Given the description of an element on the screen output the (x, y) to click on. 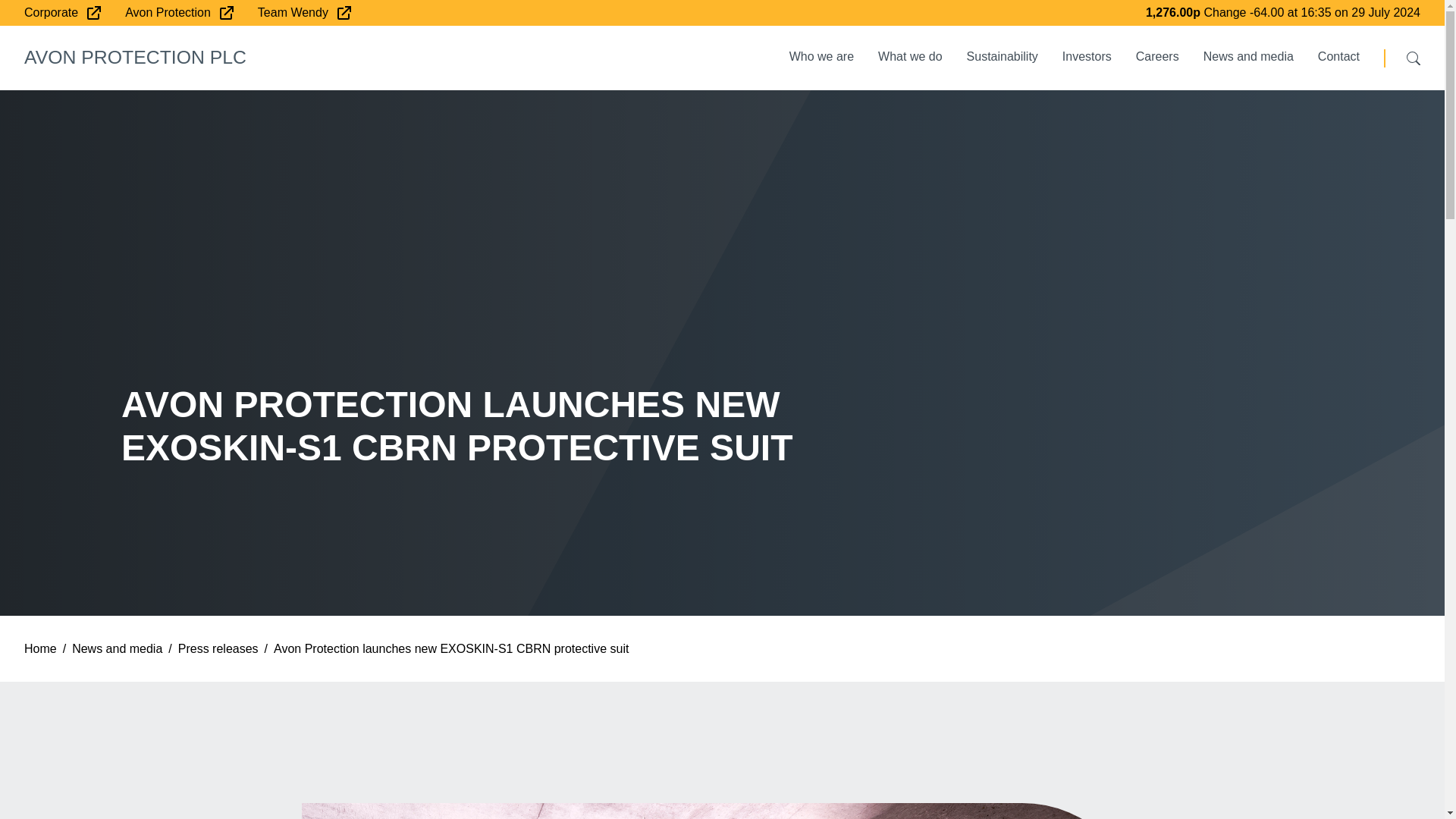
Who we are (821, 57)
AVON PROTECTION PLC (135, 56)
Investors (1086, 57)
What we do (909, 57)
Avon Protection (178, 12)
Sustainability (1002, 57)
Team Wendy (303, 12)
Corporate (62, 12)
